Given the description of an element on the screen output the (x, y) to click on. 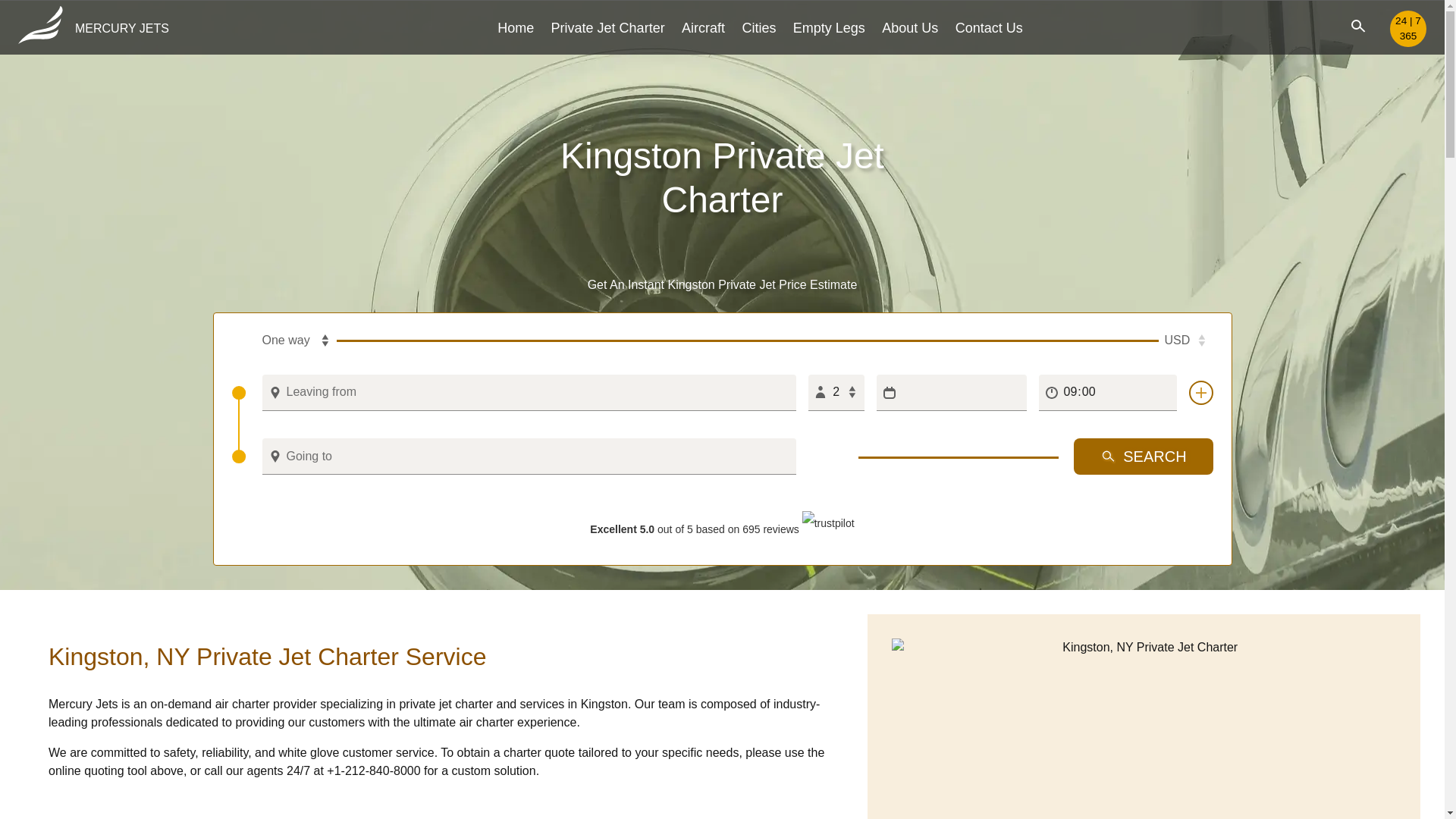
Aircraft (703, 27)
MERCURY JETS (92, 28)
Excellent 5.0 out of 5 based on 695 reviews (721, 529)
Private Jet Charter (608, 27)
Contact Us (989, 27)
SEARCH (1143, 456)
09:00 (1107, 392)
About Us (909, 27)
Home (515, 27)
Cities (758, 27)
Empty Legs (828, 27)
